Given the description of an element on the screen output the (x, y) to click on. 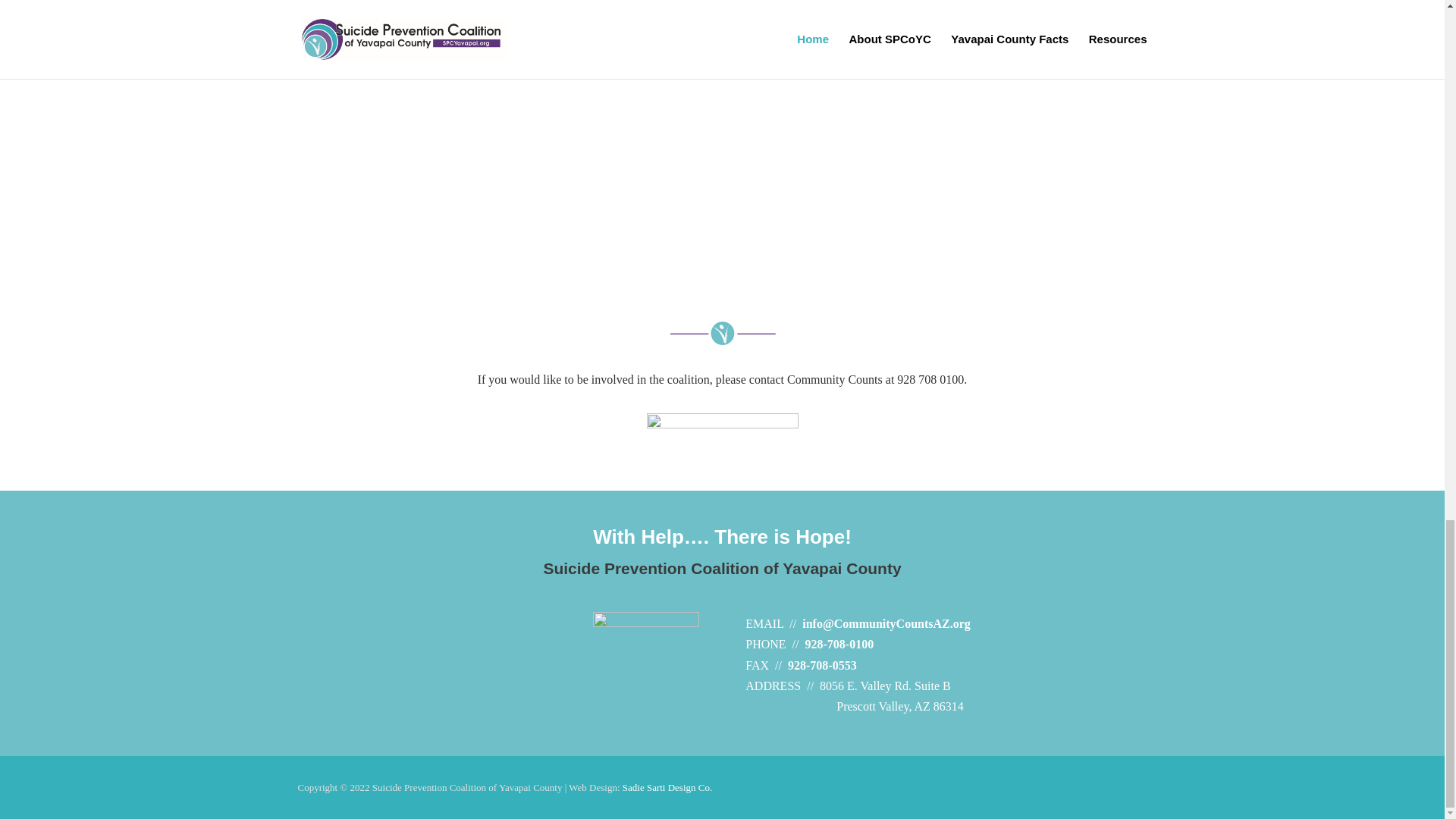
SPCOYC-icon (645, 664)
928-708-0100 (840, 644)
928-708-0553 (822, 665)
divider1 (721, 430)
Sadie Sarti Design Co. (667, 787)
divider2 (721, 333)
